Given the description of an element on the screen output the (x, y) to click on. 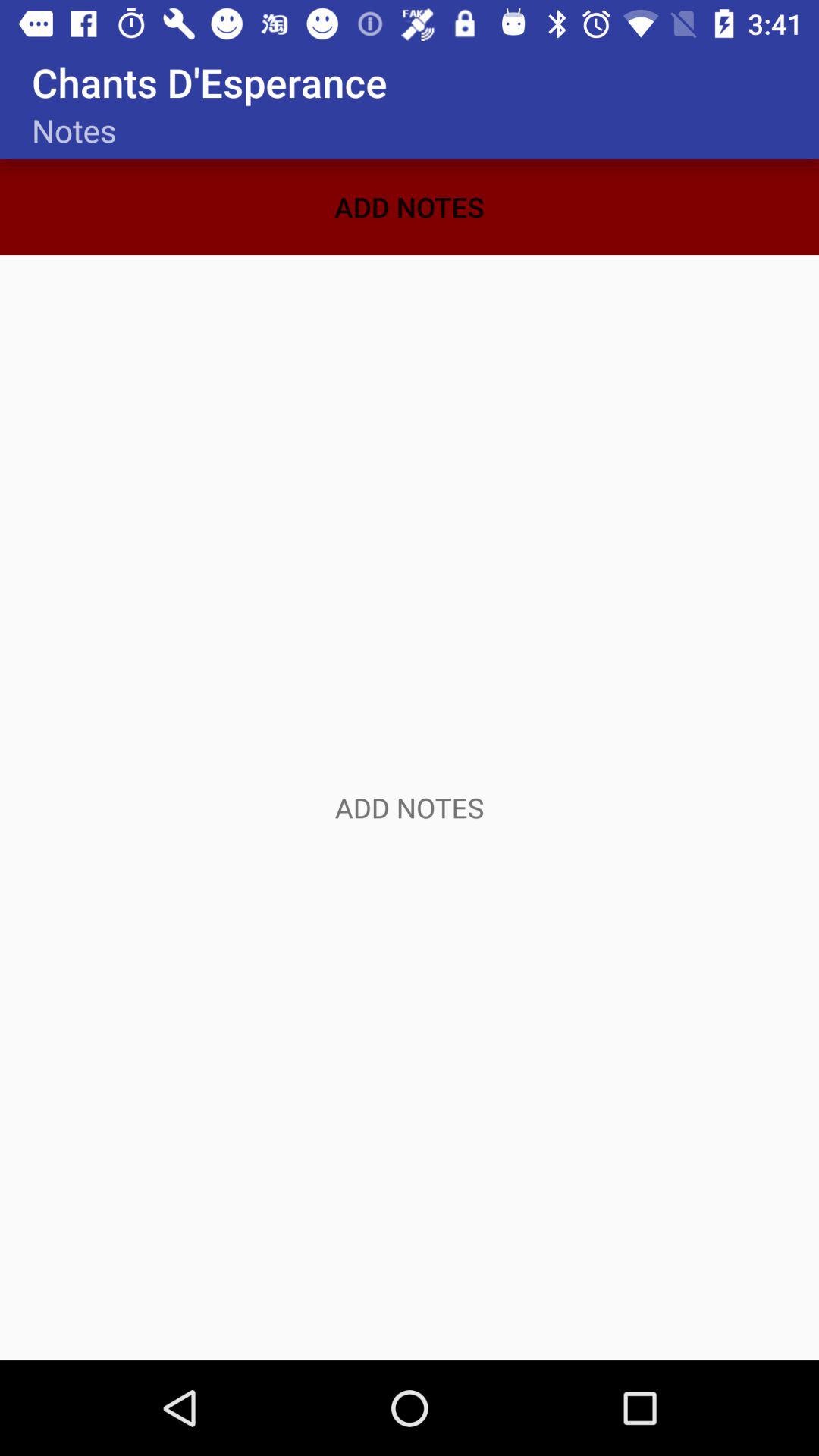
add notes here (409, 807)
